Given the description of an element on the screen output the (x, y) to click on. 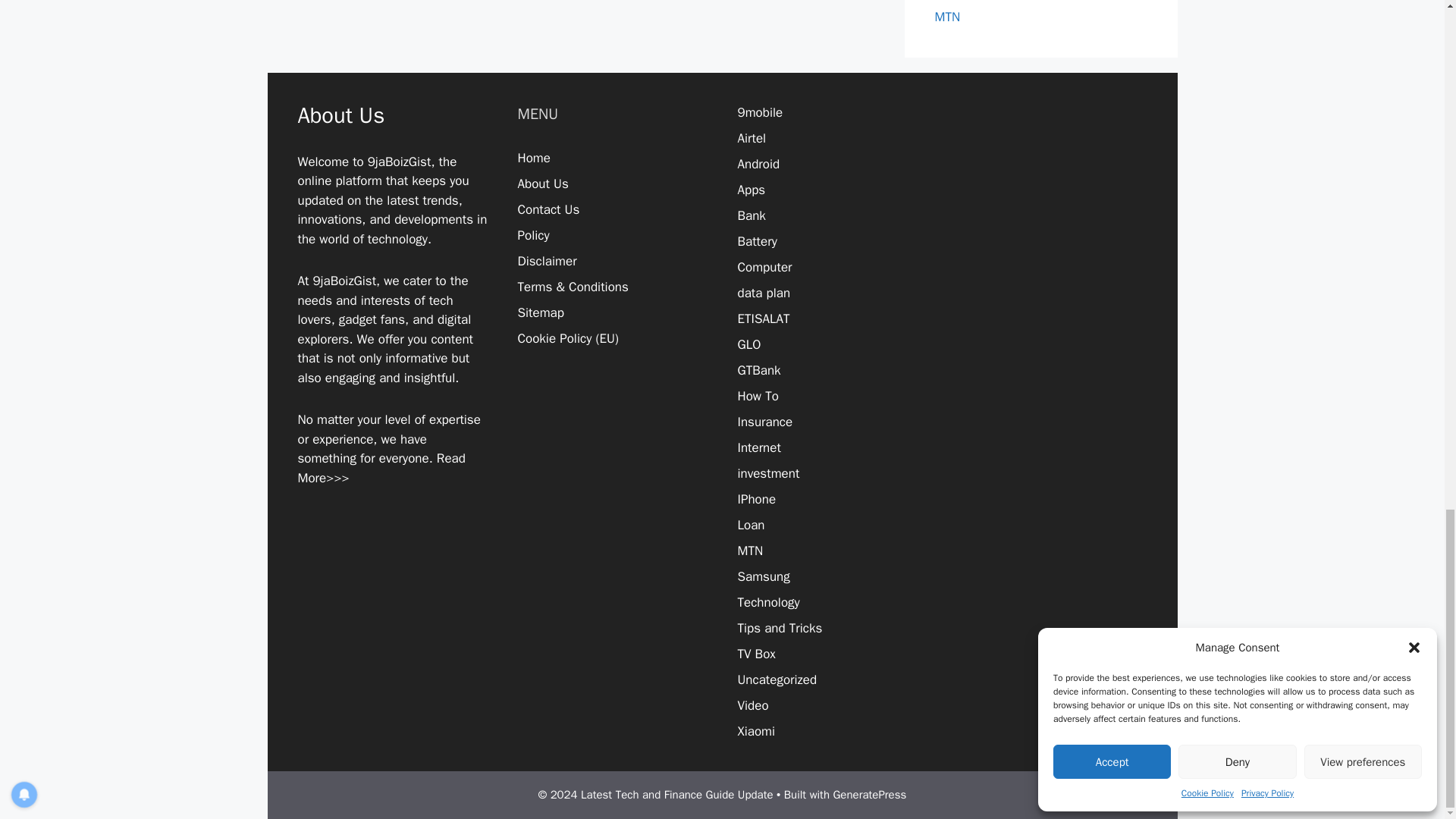
Scroll back to top (1406, 168)
